Given the description of an element on the screen output the (x, y) to click on. 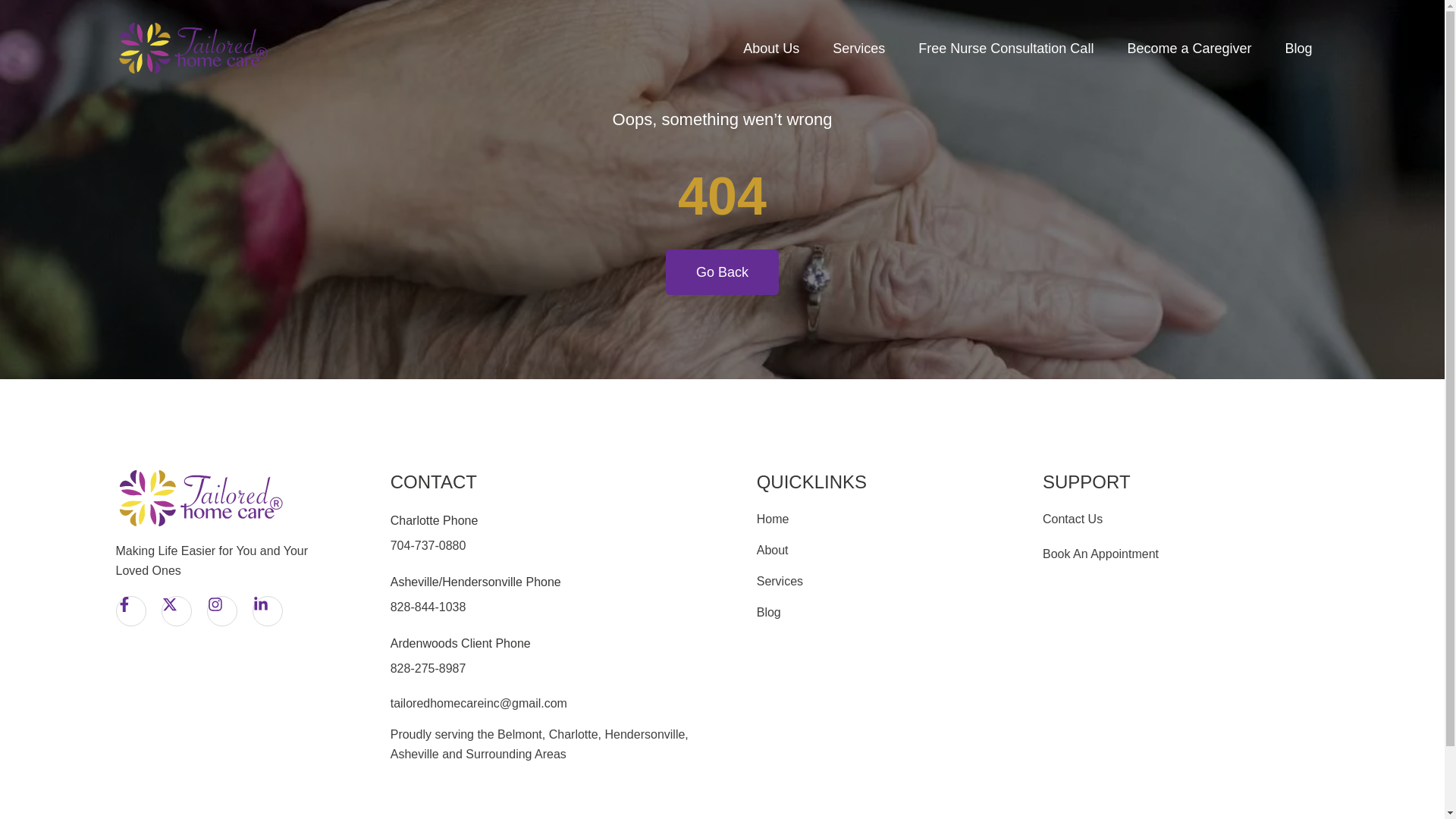
828-844-1038 (427, 606)
Services (858, 47)
Become a Caregiver (1188, 47)
704-737-0880 (427, 545)
Free Nurse Consultation Call (1005, 47)
Blog (1297, 47)
Charlotte Phone (434, 520)
Go Back (721, 271)
About Us (770, 47)
